Given the description of an element on the screen output the (x, y) to click on. 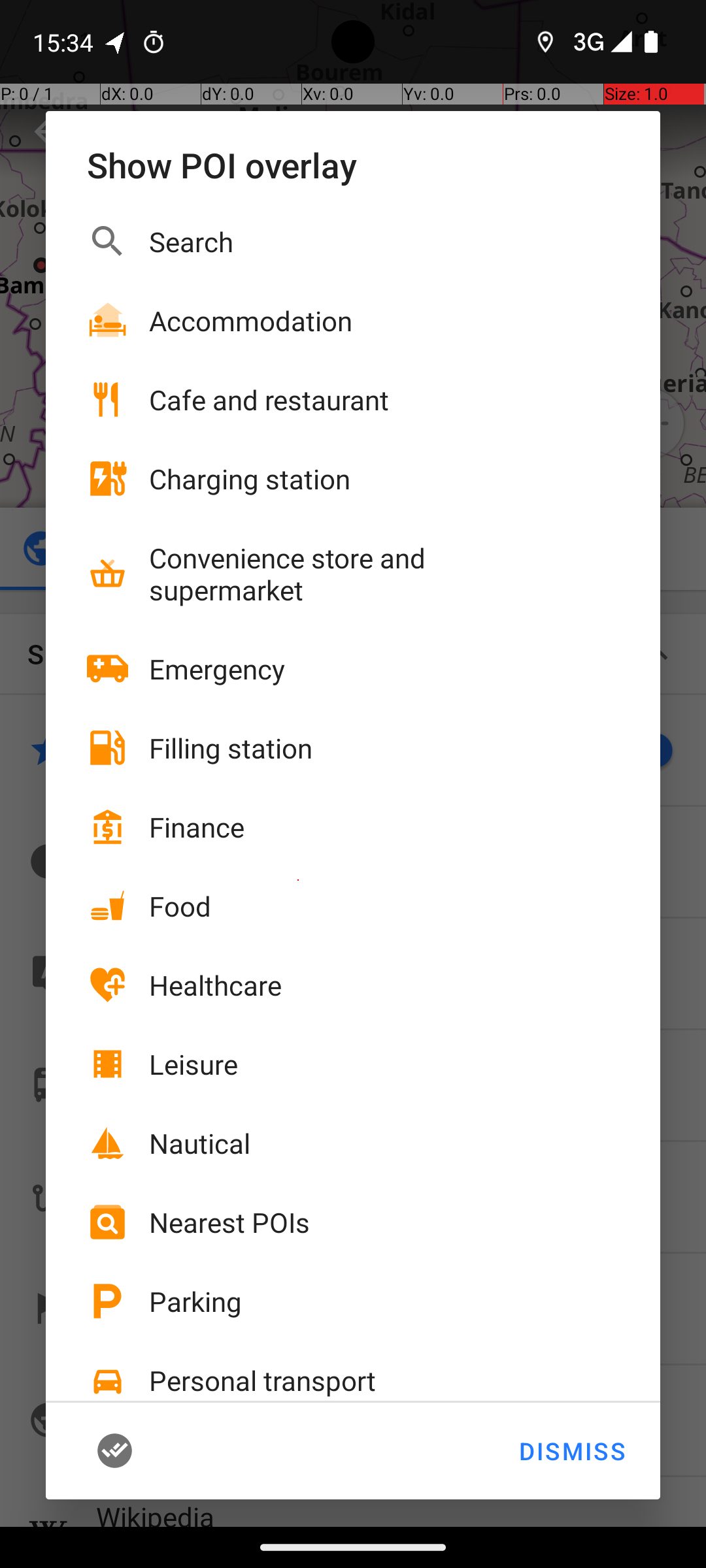
Show POI overlay Element type: android.widget.TextView (352, 164)
  Element type: android.widget.Button (135, 1450)
DISMISS Element type: android.widget.Button (571, 1450)
Accommodation Element type: android.widget.TextView (250, 320)
Cafe and restaurant Element type: android.widget.TextView (269, 399)
Charging station Element type: android.widget.TextView (249, 478)
Convenience store and supermarket Element type: android.widget.TextView (359, 573)
Emergency Element type: android.widget.TextView (217, 668)
Filling station Element type: android.widget.TextView (230, 747)
Healthcare Element type: android.widget.TextView (215, 984)
Leisure Element type: android.widget.TextView (193, 1063)
Nautical Element type: android.widget.TextView (199, 1142)
Nearest POIs Element type: android.widget.TextView (229, 1221)
Parking Element type: android.widget.TextView (195, 1300)
Personal transport Element type: android.widget.TextView (262, 1379)
